Given the description of an element on the screen output the (x, y) to click on. 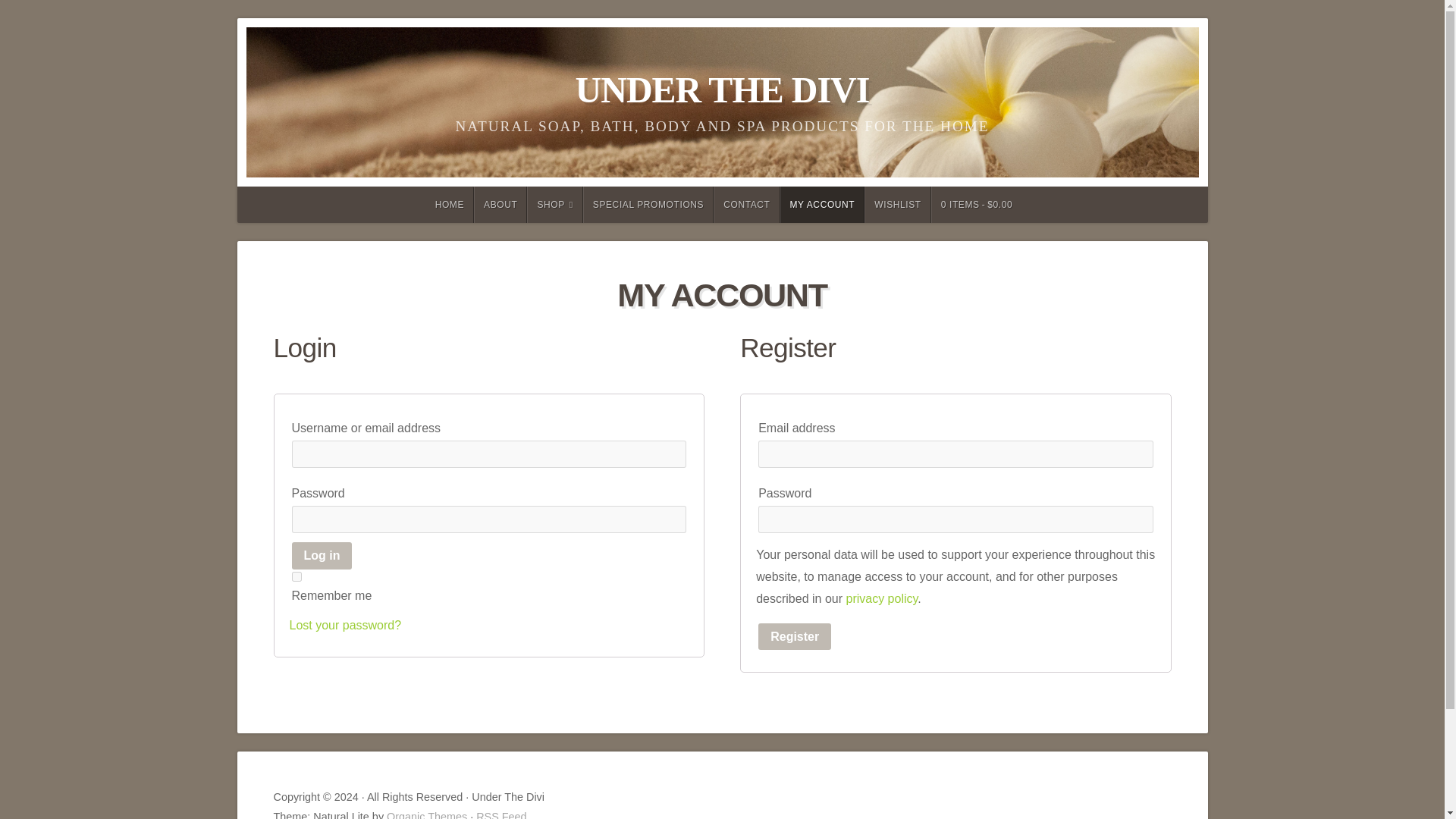
HOME (448, 204)
Organic Themes (427, 814)
WISHLIST (897, 204)
SHOP (554, 204)
Lost your password? (345, 625)
RSS Feed (500, 814)
SPECIAL PROMOTIONS (648, 204)
MY ACCOUNT (822, 204)
forever (296, 576)
Start shopping (976, 204)
ABOUT (500, 204)
privacy policy (881, 598)
Log in (321, 555)
Register (794, 636)
CONTACT (745, 204)
